Given the description of an element on the screen output the (x, y) to click on. 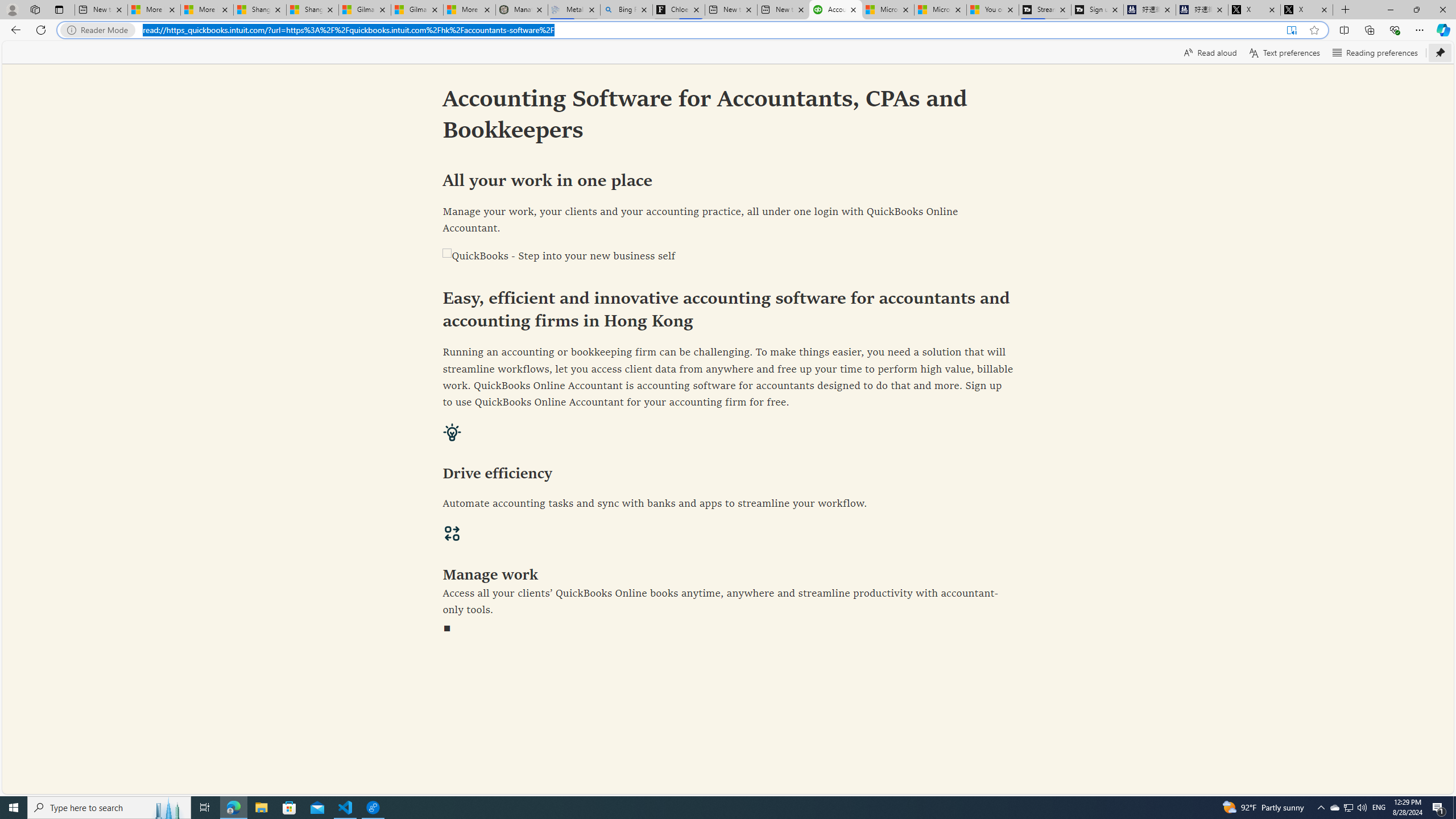
Gilma and Hector both pose tropical trouble for Hawaii (416, 9)
Exit Immersive Reader (F9) (1291, 29)
Reader Mode (100, 29)
Unpin toolbar (1439, 52)
Accounting Software for Accountants, CPAs and Bookkeepers (835, 9)
Read aloud (1209, 52)
Chloe Sorvino (678, 9)
Streaming Coverage | T3 (1044, 9)
